Given the description of an element on the screen output the (x, y) to click on. 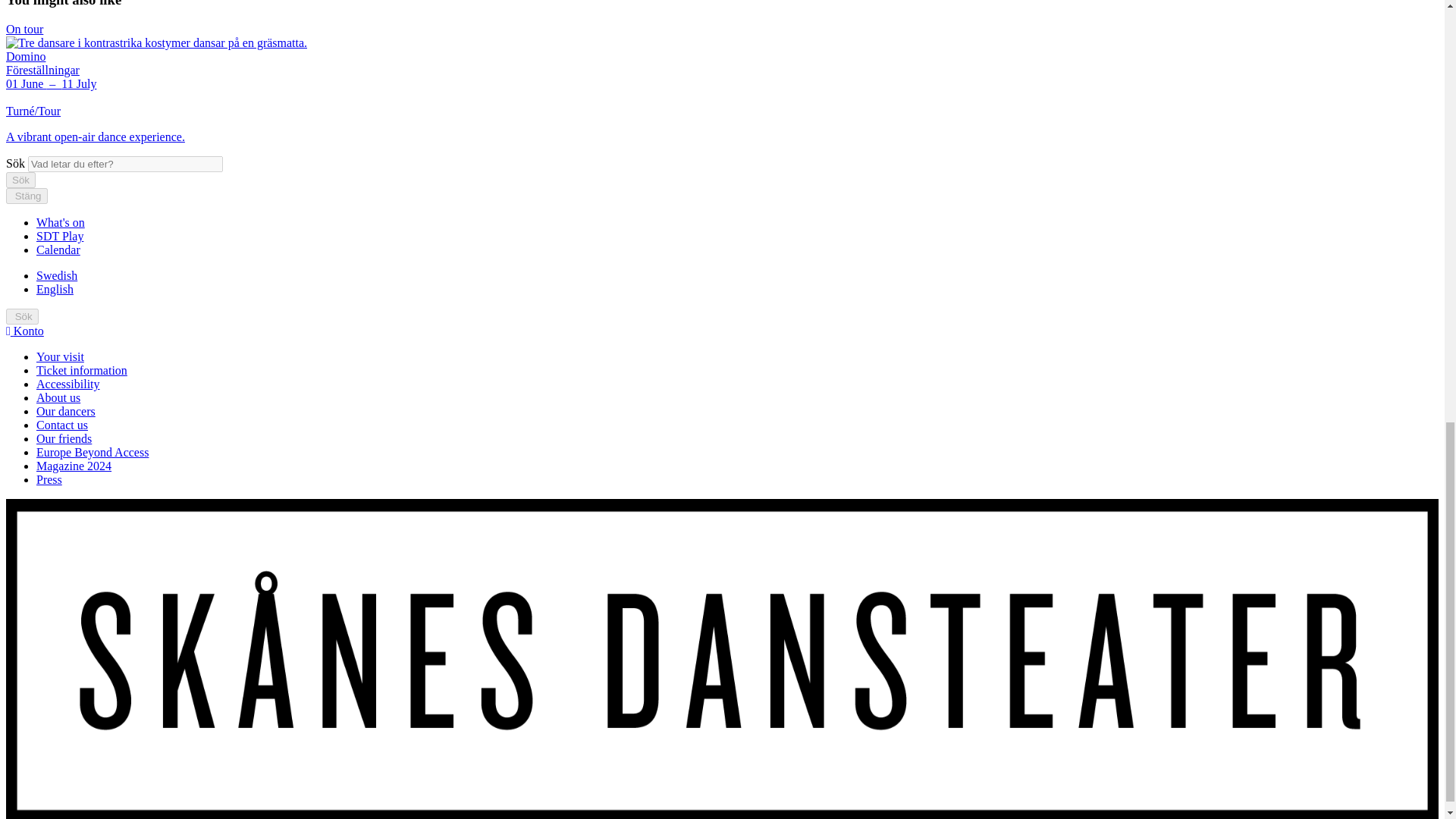
Contact us (61, 424)
Your visit (60, 356)
Link to What's on. (60, 222)
Calendar (58, 249)
Accessibility (68, 383)
About us (58, 397)
Link to calendar. (58, 249)
Ticket information (82, 369)
What's on (60, 222)
Link to SDT Play. (59, 236)
